Given the description of an element on the screen output the (x, y) to click on. 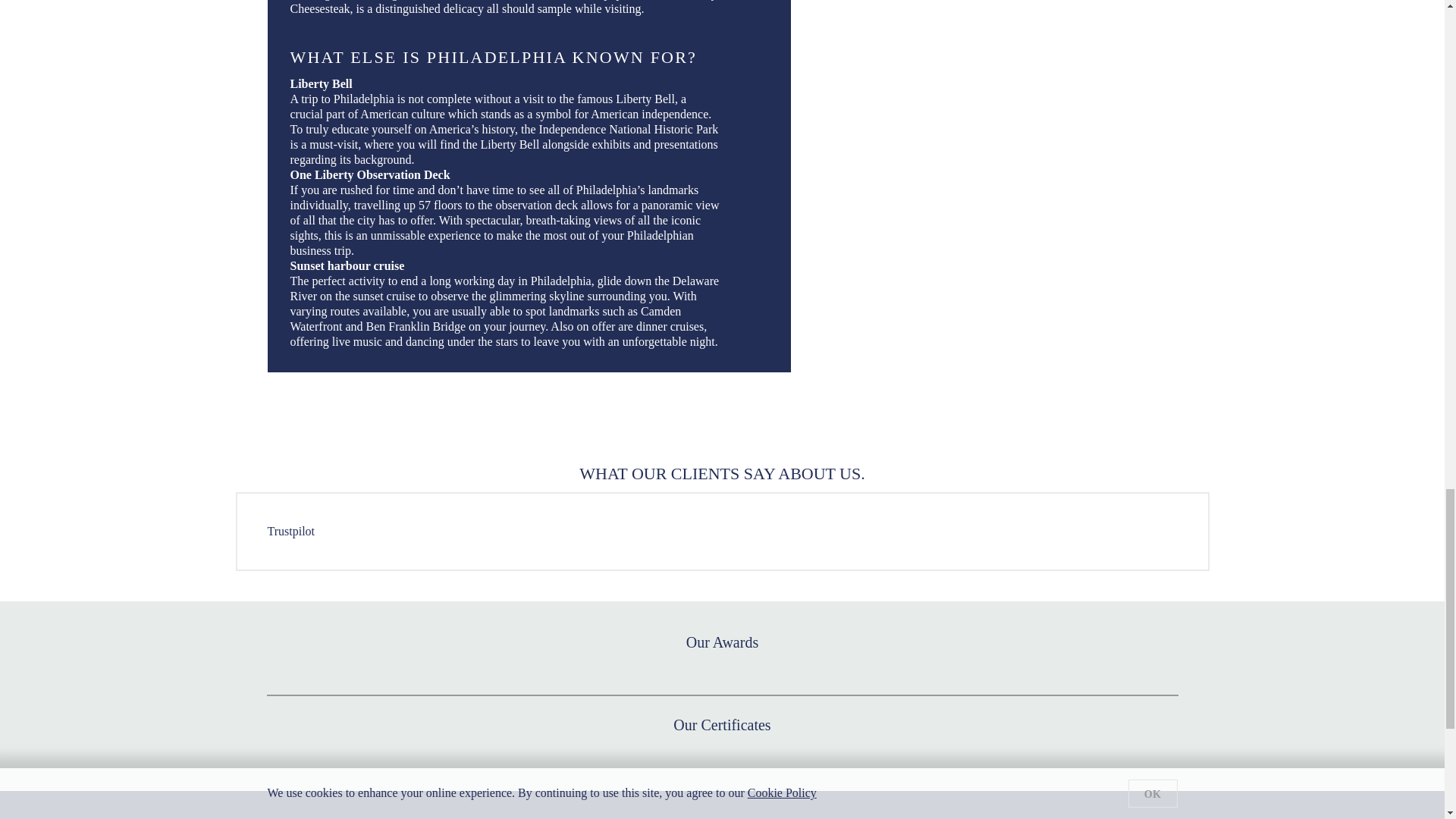
Trustpilot (290, 530)
